Given the description of an element on the screen output the (x, y) to click on. 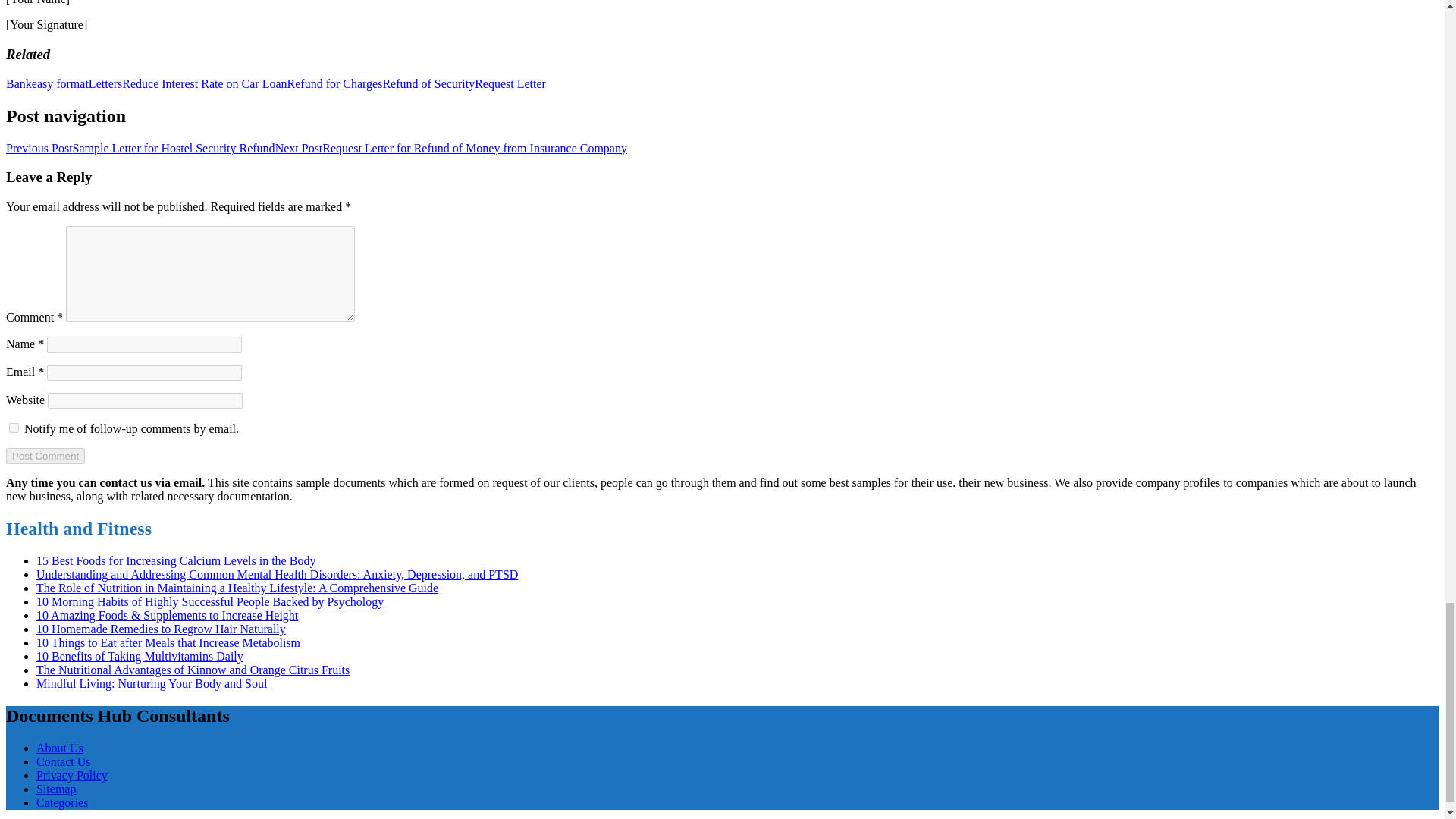
Refund of Security (427, 83)
subscribe (13, 428)
Letters (105, 83)
Post Comment (44, 455)
Request Letter (510, 83)
Post Comment (44, 455)
Refund for Charges (334, 83)
Bank (18, 83)
easy format (60, 83)
